Given the description of an element on the screen output the (x, y) to click on. 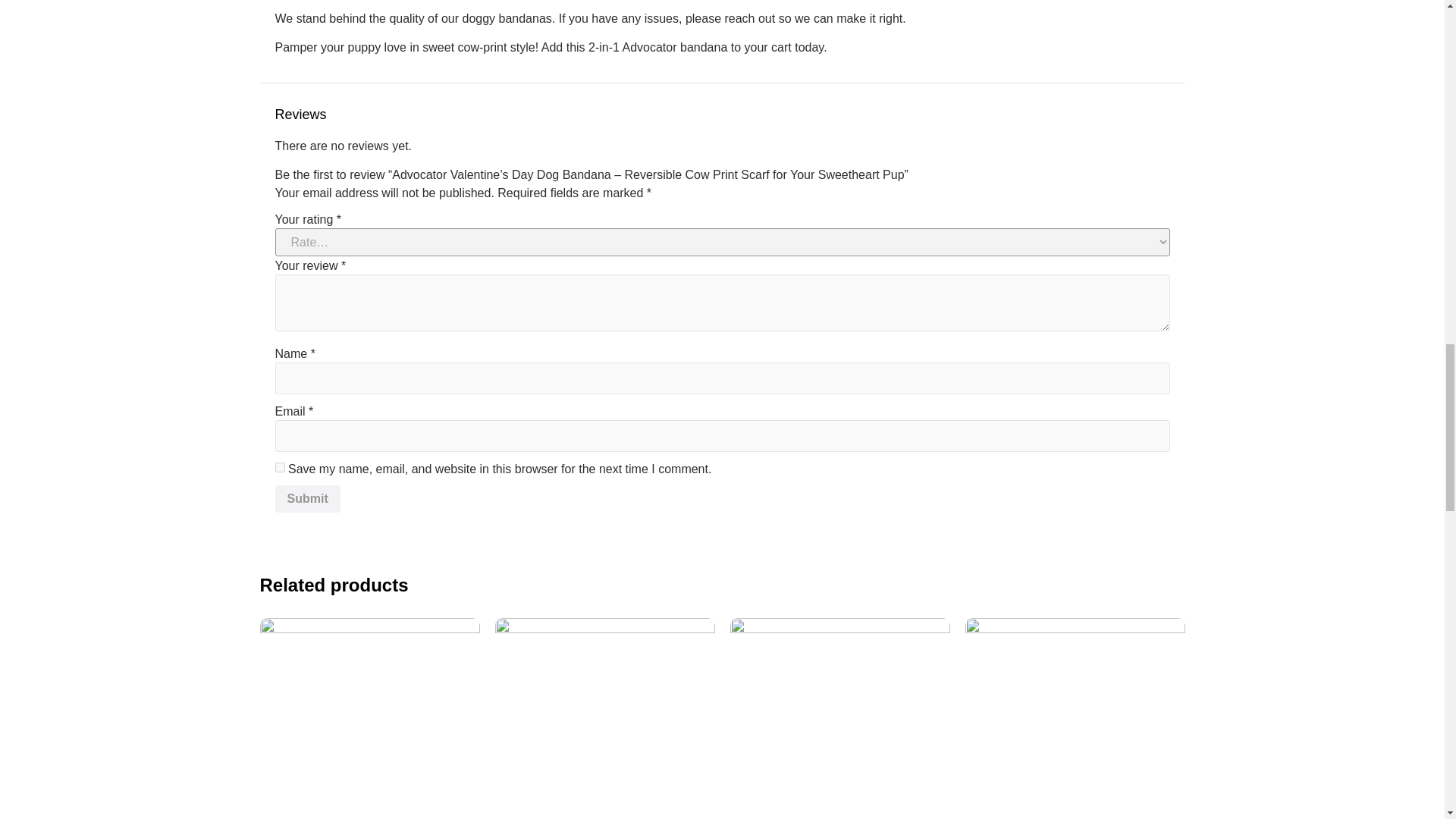
Submit (307, 498)
Submit (307, 498)
yes (279, 467)
